Given the description of an element on the screen output the (x, y) to click on. 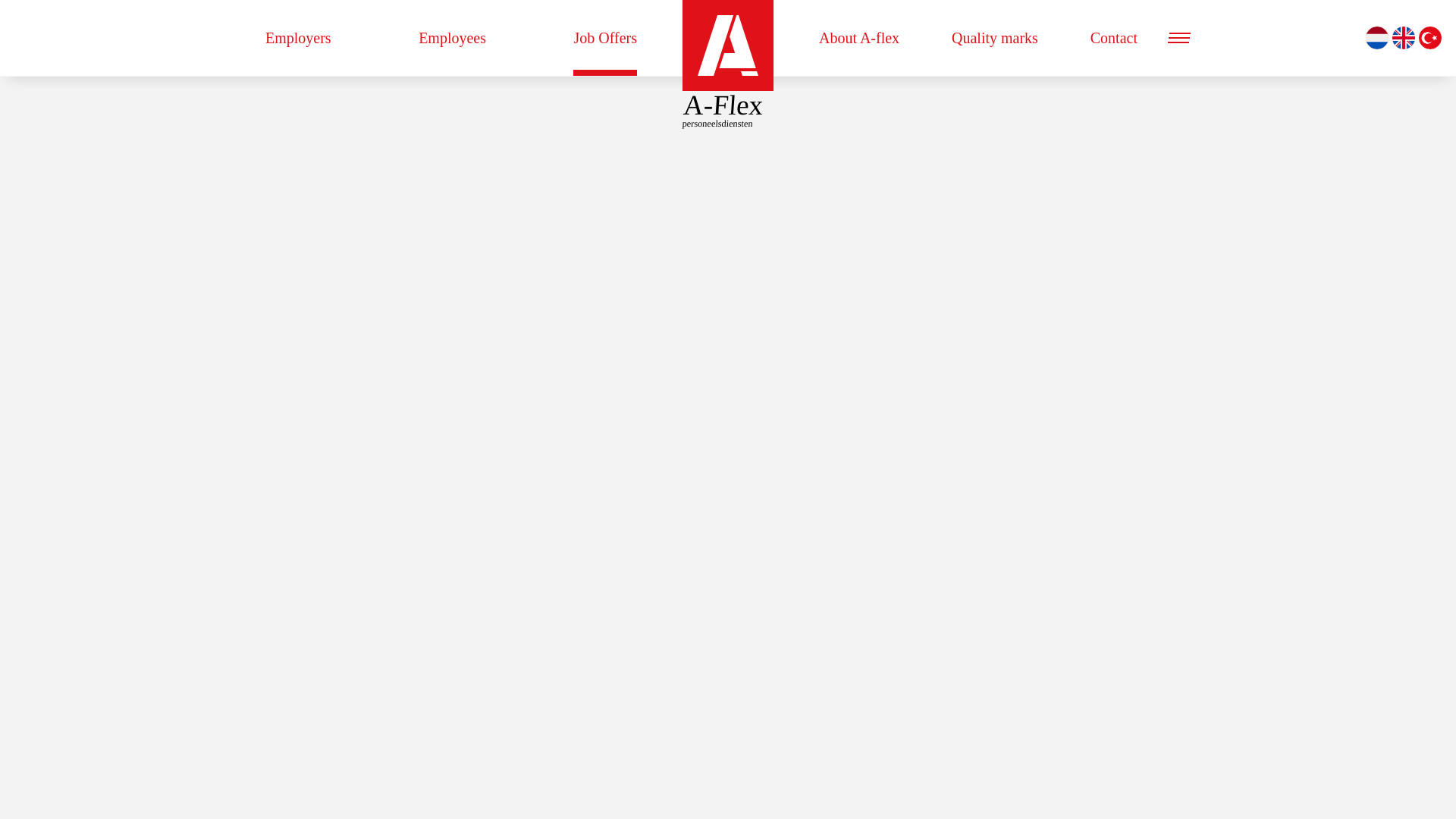
About A-flex (858, 38)
Quality marks (995, 38)
Employees (452, 38)
